Given the description of an element on the screen output the (x, y) to click on. 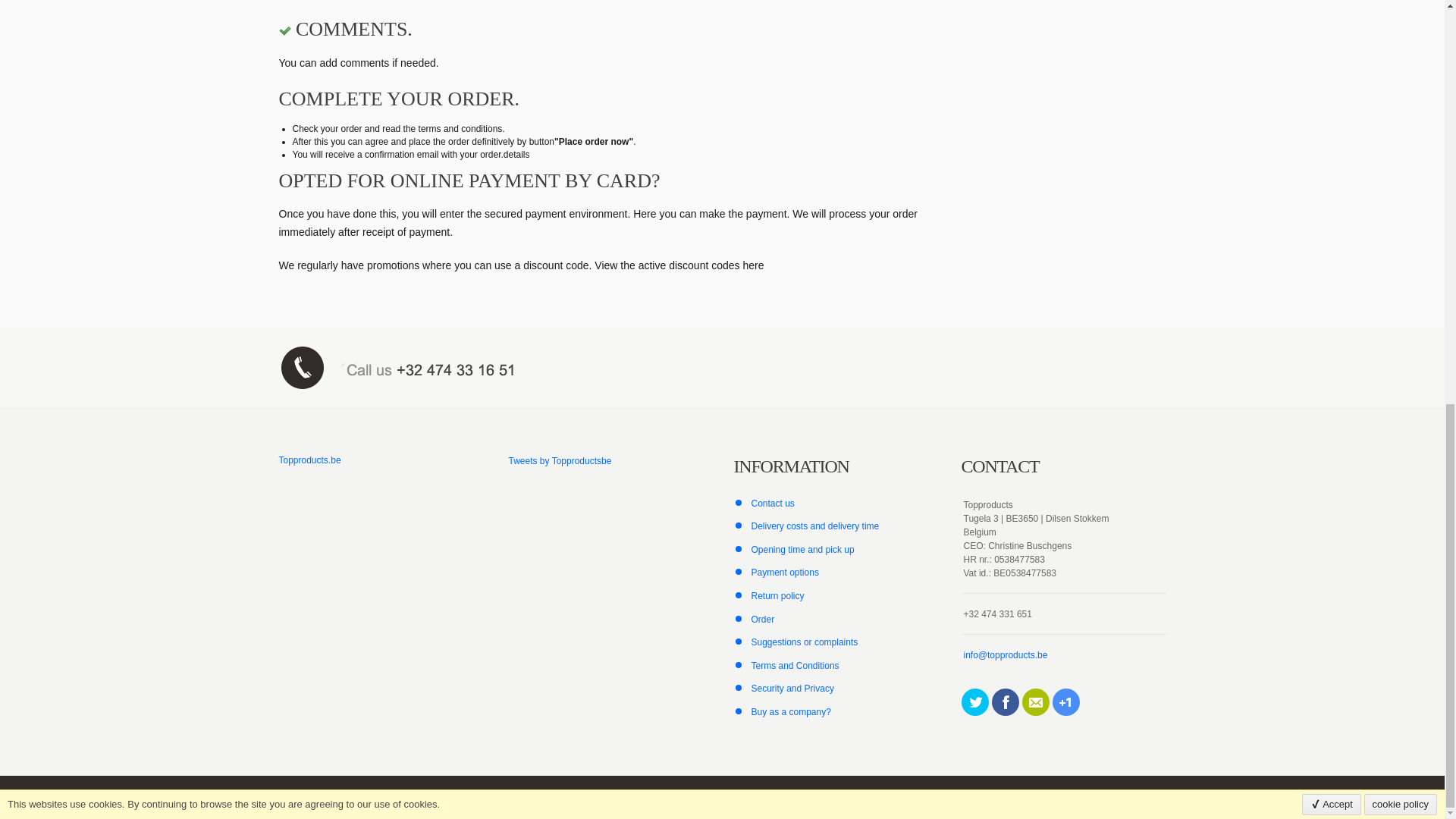
Delivery costs delivery time info (815, 525)
Return policy topproducts (777, 595)
privacy- policy (791, 688)
openingstime topproducts pickup in our store (802, 549)
How to order a product (762, 619)
contacts us (772, 502)
Call us  (495, 367)
Suggestions or complaints (804, 642)
Payment options topproducts (784, 572)
Terms and Conditions topproducts (794, 665)
